Given the description of an element on the screen output the (x, y) to click on. 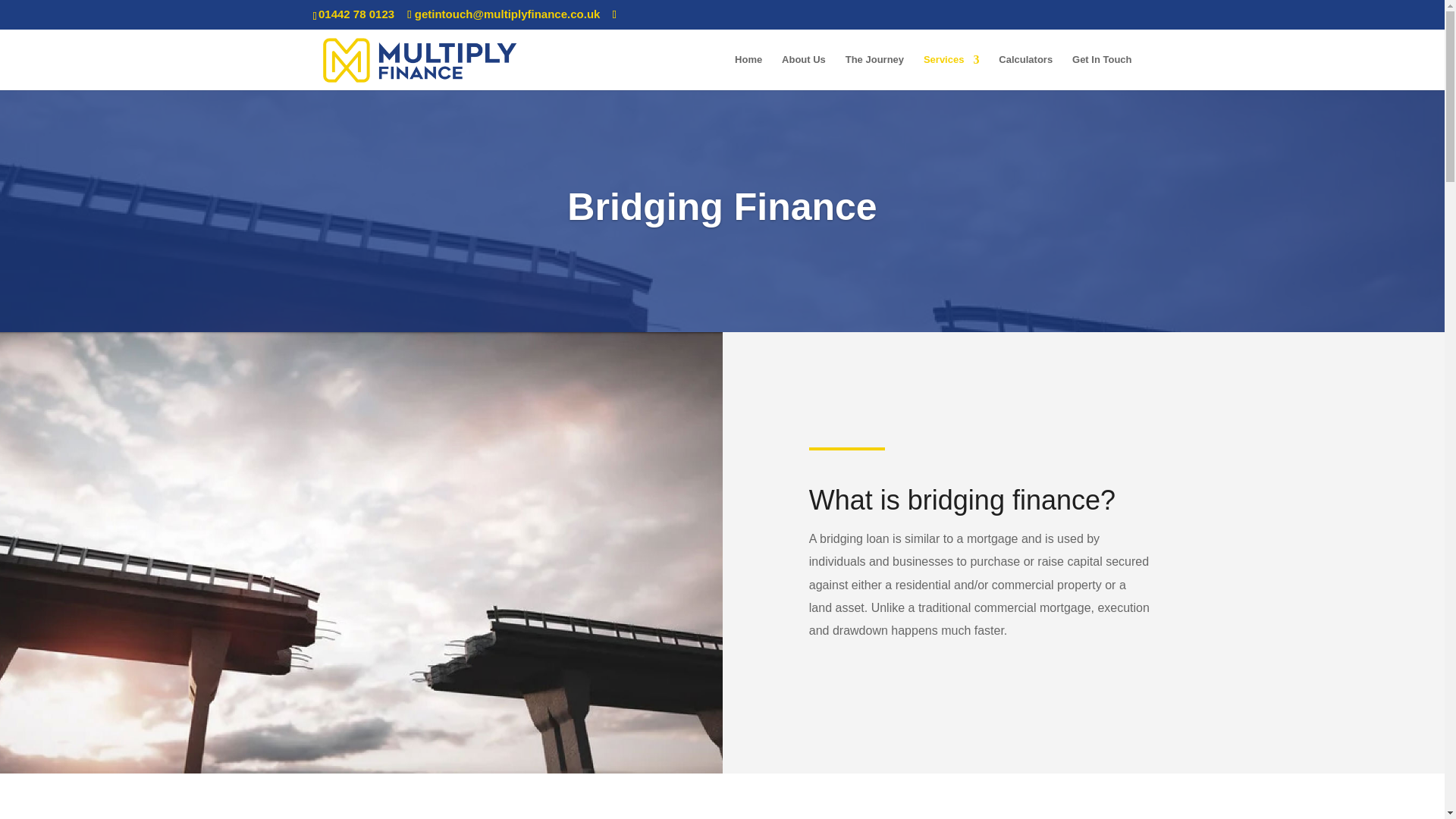
Calculators (1025, 72)
About Us (803, 72)
Get In Touch (1101, 72)
The Journey (874, 72)
Services (951, 72)
